Given the description of an element on the screen output the (x, y) to click on. 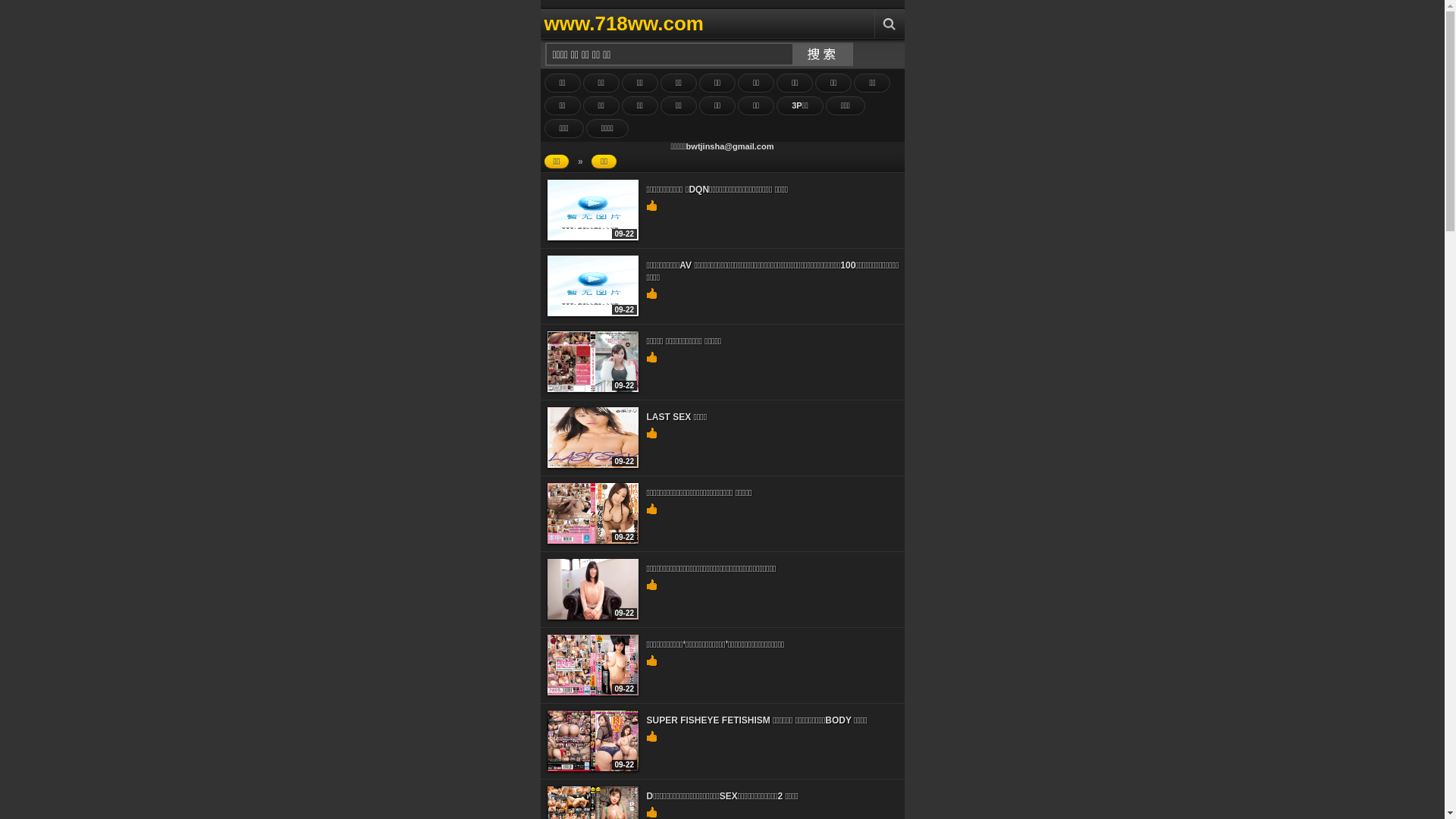
09-22 Element type: text (592, 312)
09-22 Element type: text (592, 540)
09-22 Element type: text (592, 691)
Search Element type: hover (888, 23)
09-22 Element type: text (592, 464)
www.718ww.com Element type: text (695, 23)
09-22 Element type: text (592, 767)
09-22 Element type: text (592, 616)
09-22 Element type: text (592, 388)
09-22 Element type: text (592, 236)
